Given the description of an element on the screen output the (x, y) to click on. 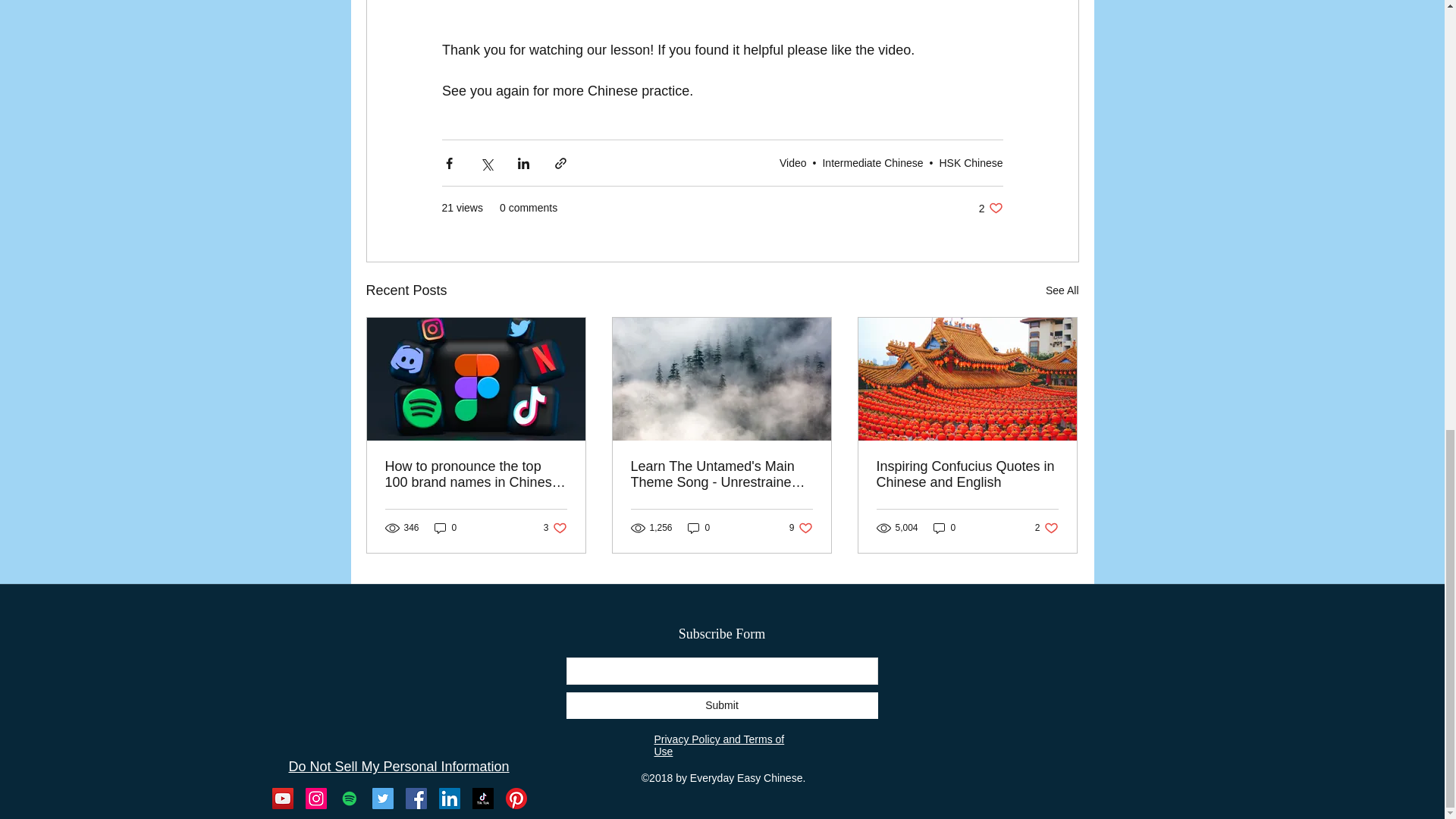
0 (445, 527)
How to pronounce the top 100 brand names in Chinese Mandarin (476, 474)
0 (698, 527)
Intermediate Chinese (872, 162)
Video (792, 162)
HSK Chinese (971, 162)
See All (1061, 291)
